Given the description of an element on the screen output the (x, y) to click on. 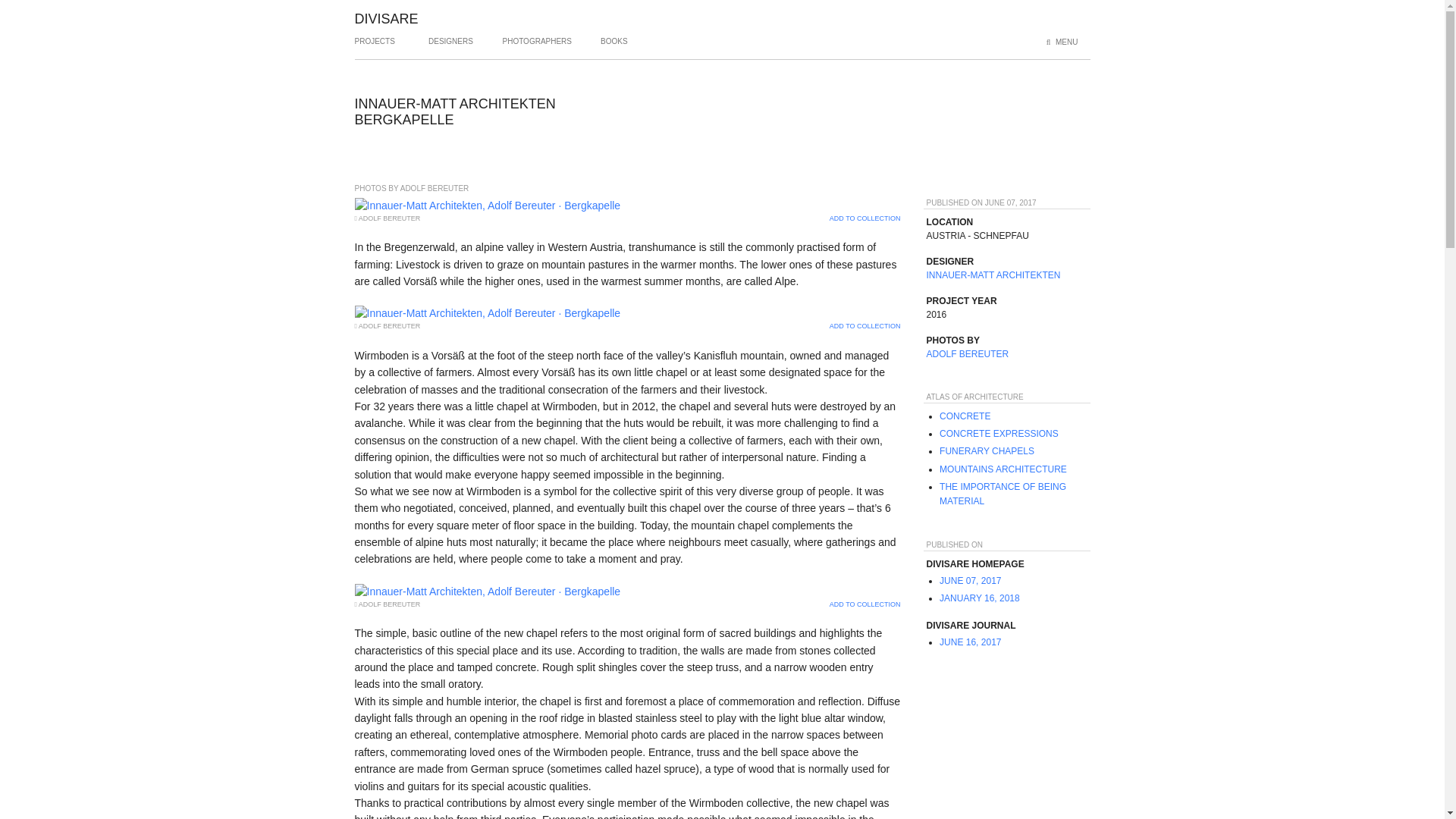
PROJECTS (374, 46)
DIVISARE (387, 18)
